Given the description of an element on the screen output the (x, y) to click on. 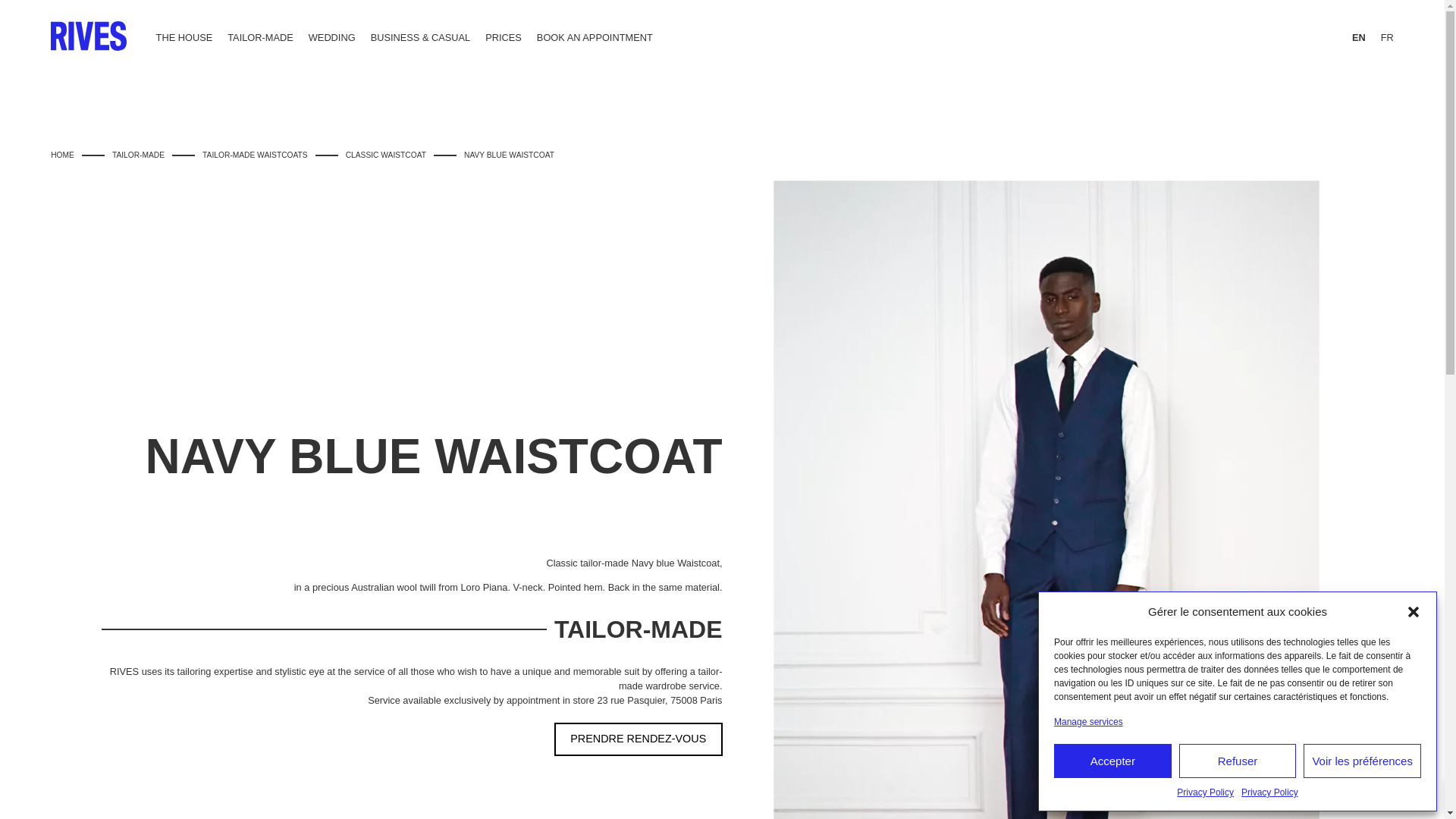
PRICES (510, 37)
WEDDING (339, 37)
EN (1350, 37)
Refuser (1238, 760)
FR (1379, 37)
Privacy Policy (1204, 792)
TAILOR-MADE (267, 37)
EN (1350, 37)
Accepter (1113, 760)
Privacy Policy (1269, 792)
THE HOUSE (191, 37)
BOOK AN APPOINTMENT (602, 37)
Manage services (1088, 721)
